Given the description of an element on the screen output the (x, y) to click on. 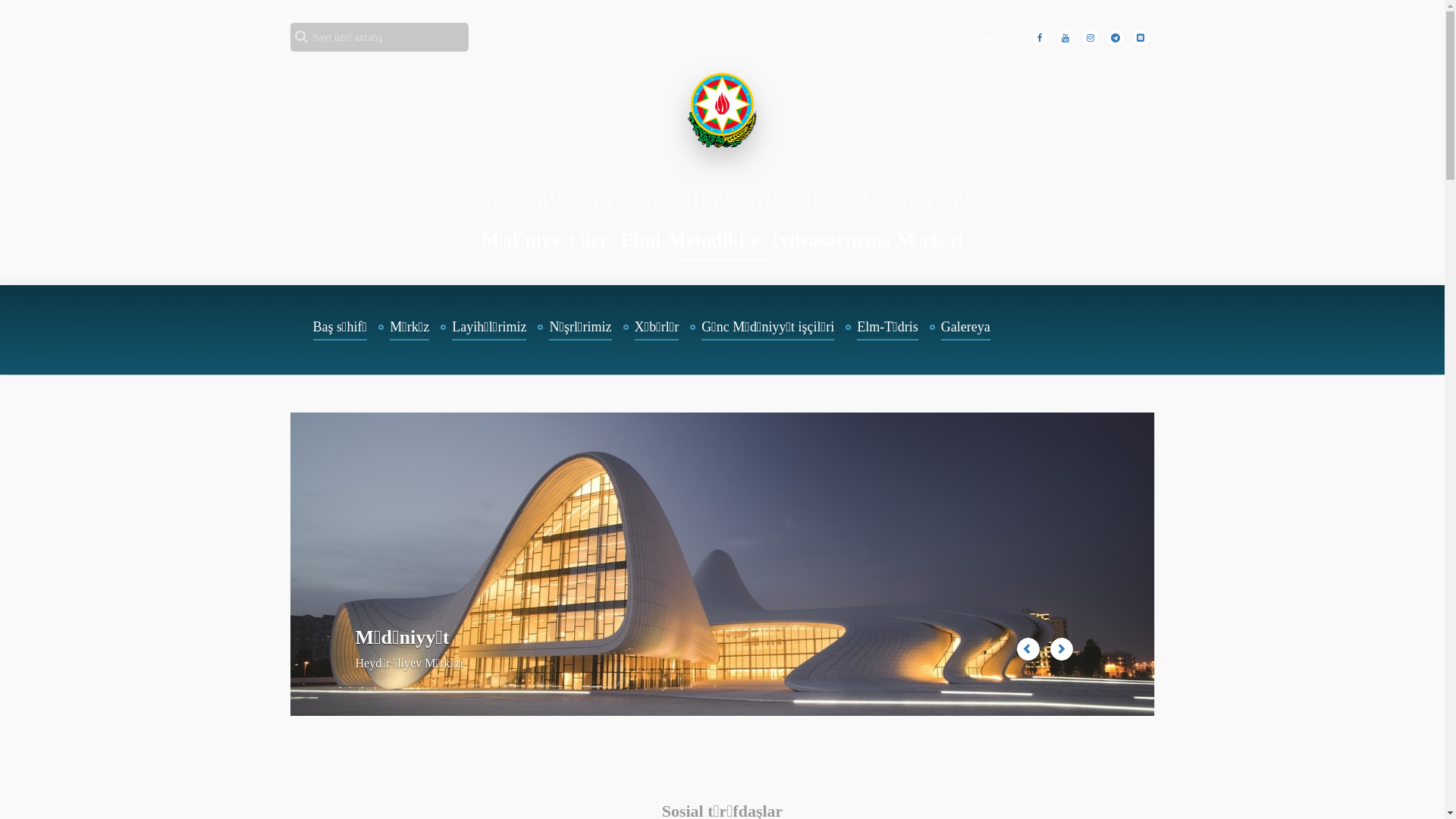
Galereya Element type: text (965, 329)
